Given the description of an element on the screen output the (x, y) to click on. 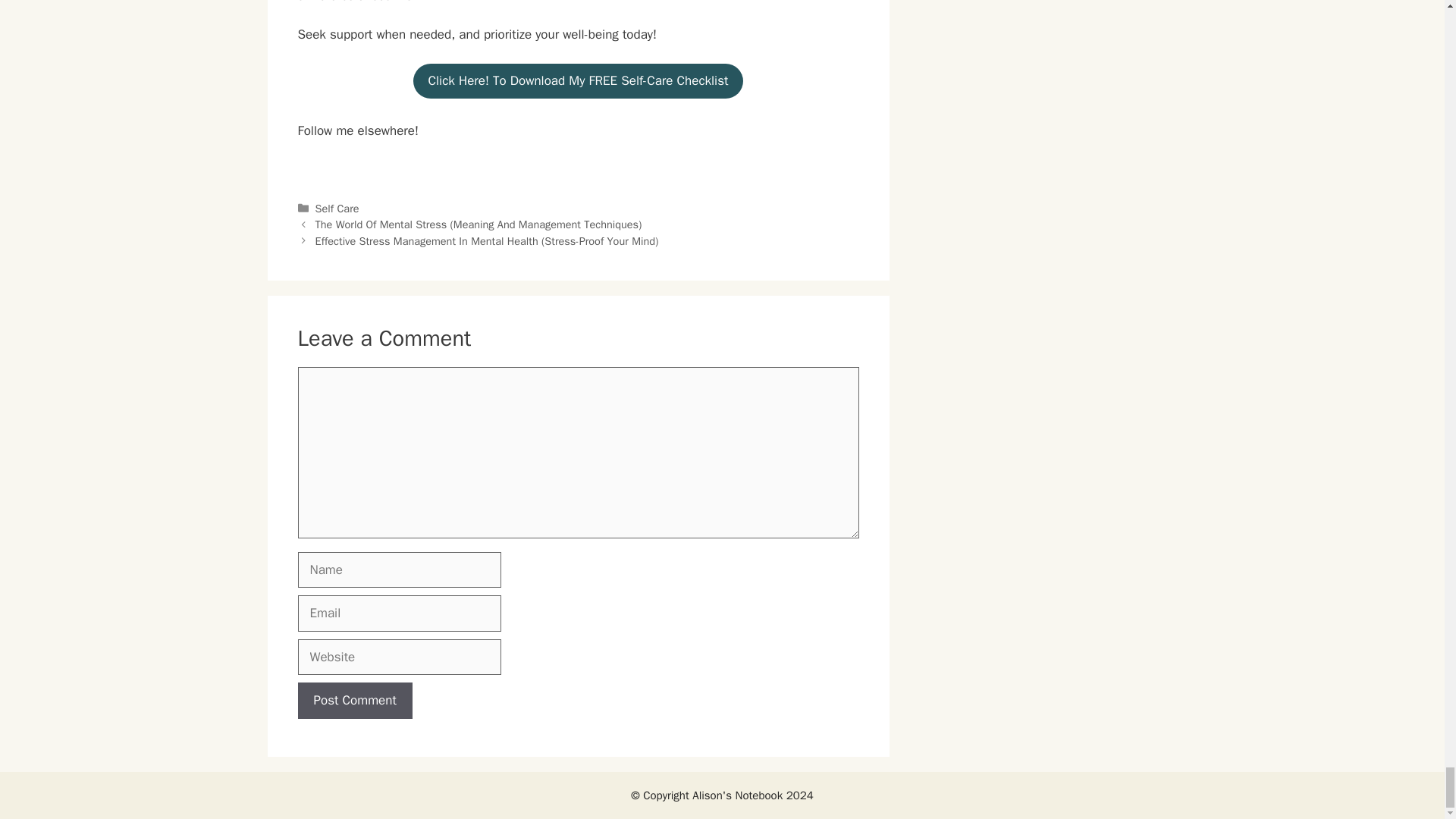
Post Comment (354, 700)
